Given the description of an element on the screen output the (x, y) to click on. 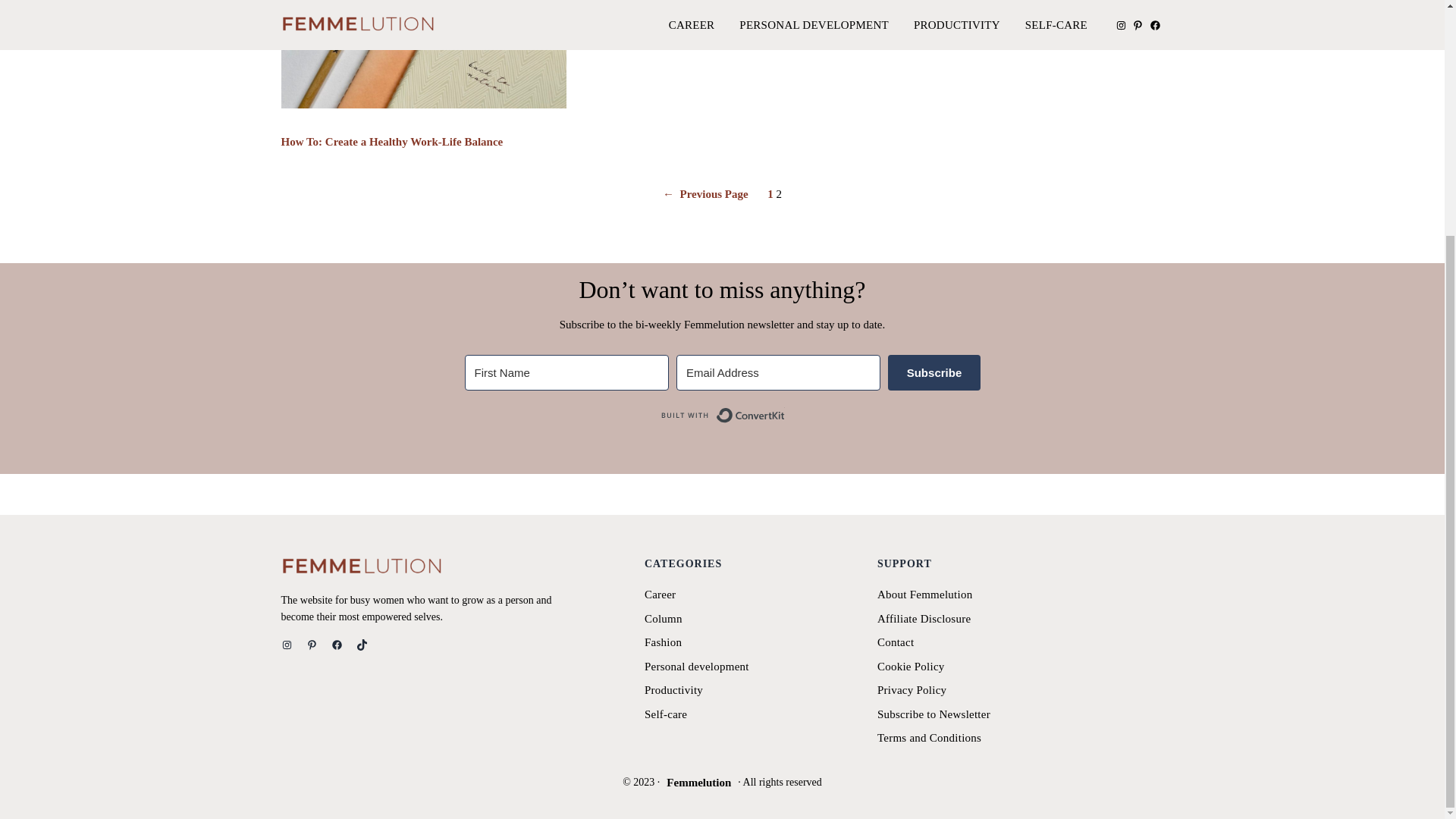
Privacy Policy (911, 690)
TikTok (362, 644)
Career (660, 594)
Column (663, 619)
Affiliate Disclosure (924, 619)
Femmelution (698, 782)
Subscribe (933, 372)
Self-care (666, 714)
Instagram (286, 644)
Productivity (674, 690)
Contact (895, 642)
How To: Create a Healthy Work-Life Balance (391, 141)
Facebook (336, 644)
Built with ConvertKit (722, 415)
Terms and Conditions (929, 737)
